Given the description of an element on the screen output the (x, y) to click on. 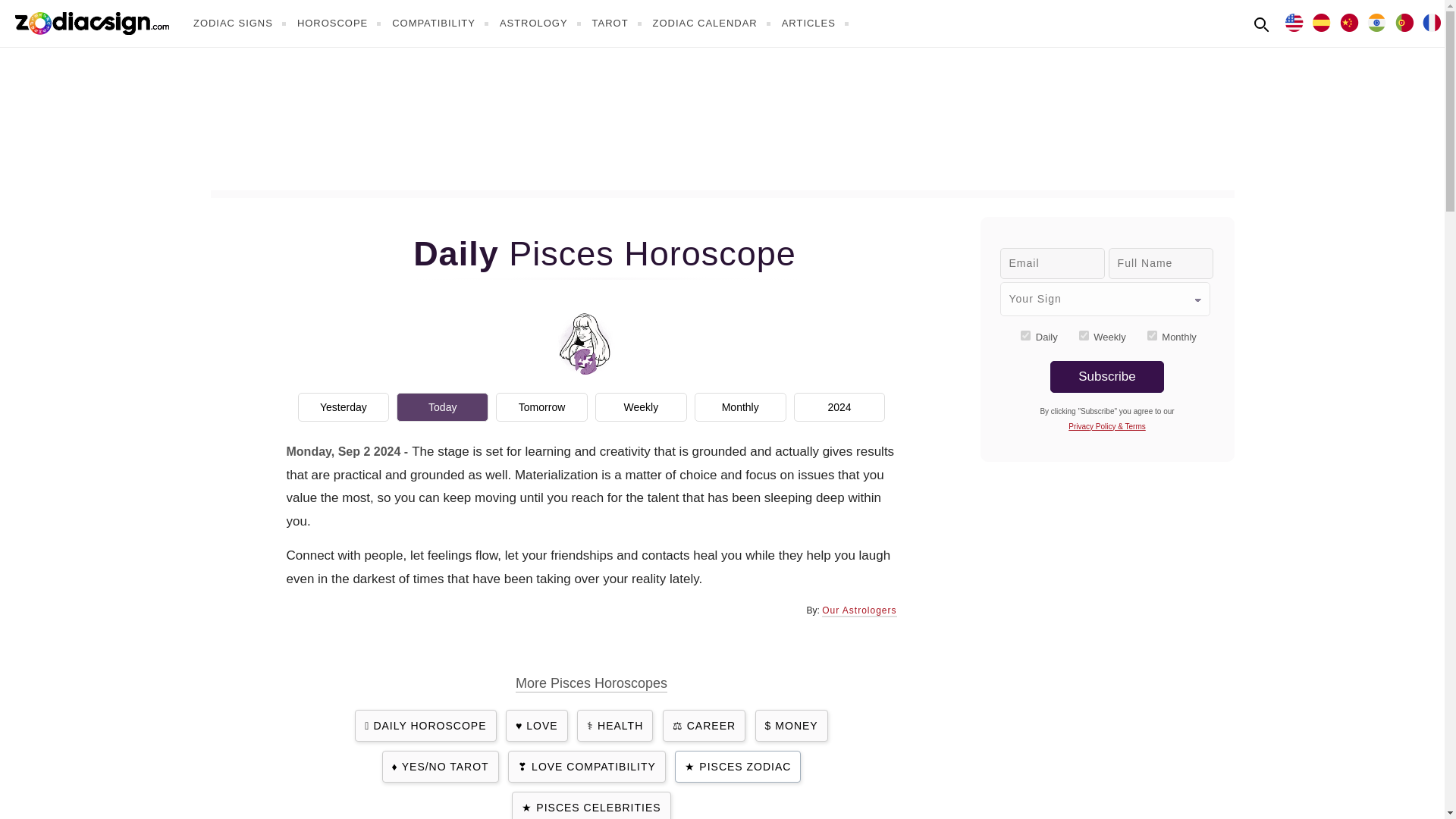
monthly (1152, 335)
In English (1294, 21)
weekly (1083, 335)
HOROSCOPE (341, 23)
daily (1025, 335)
ZODIAC SIGNS (241, 23)
